Given the description of an element on the screen output the (x, y) to click on. 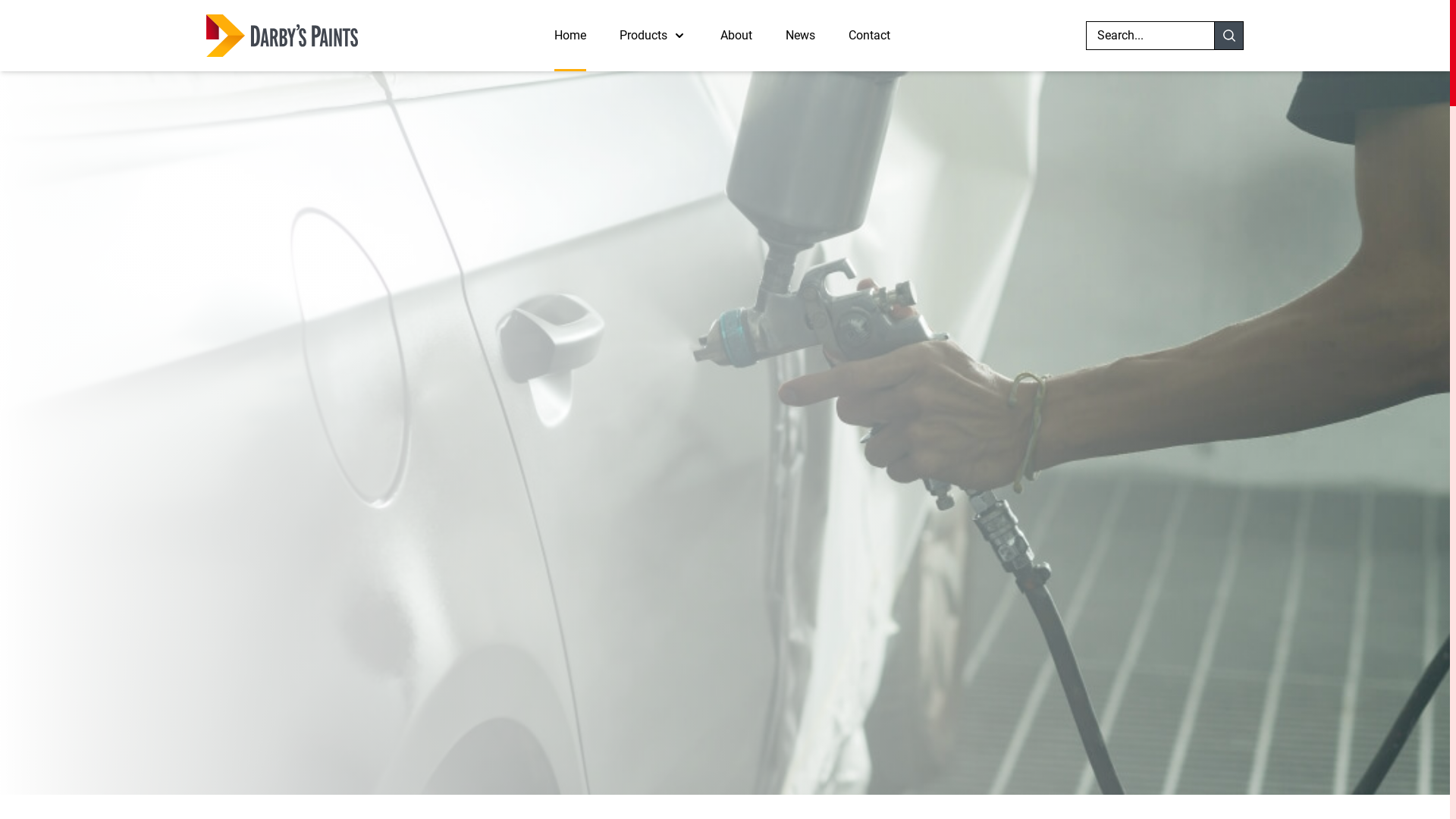
Contact Element type: text (868, 35)
News Element type: text (800, 35)
Products Element type: text (642, 35)
Home Element type: text (569, 35)
About Element type: text (736, 35)
